Given the description of an element on the screen output the (x, y) to click on. 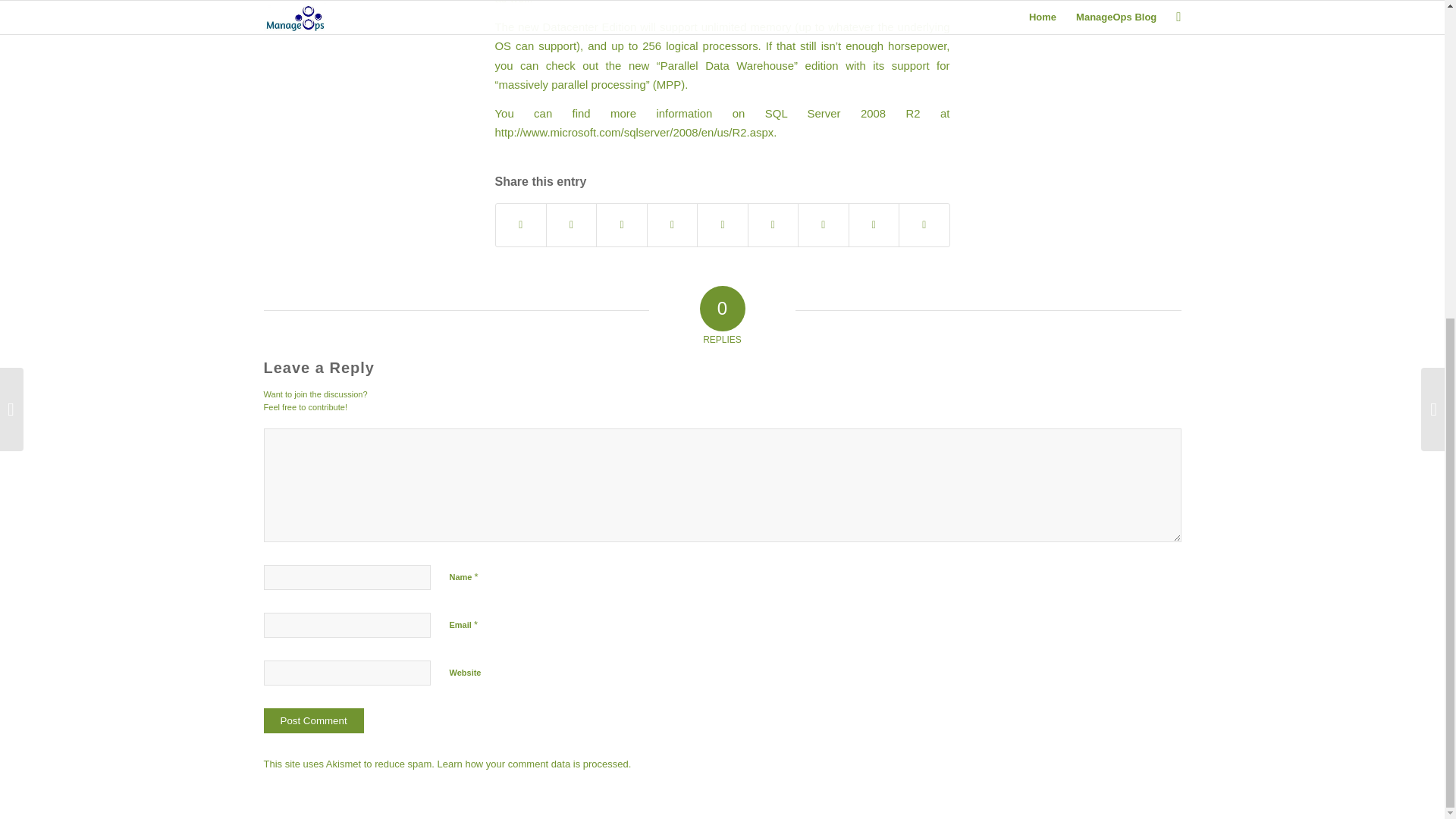
Go to Microsoft SQL Server Web site (634, 132)
Post Comment (313, 720)
Learn how your comment data is processed (533, 763)
Post Comment (313, 720)
